Given the description of an element on the screen output the (x, y) to click on. 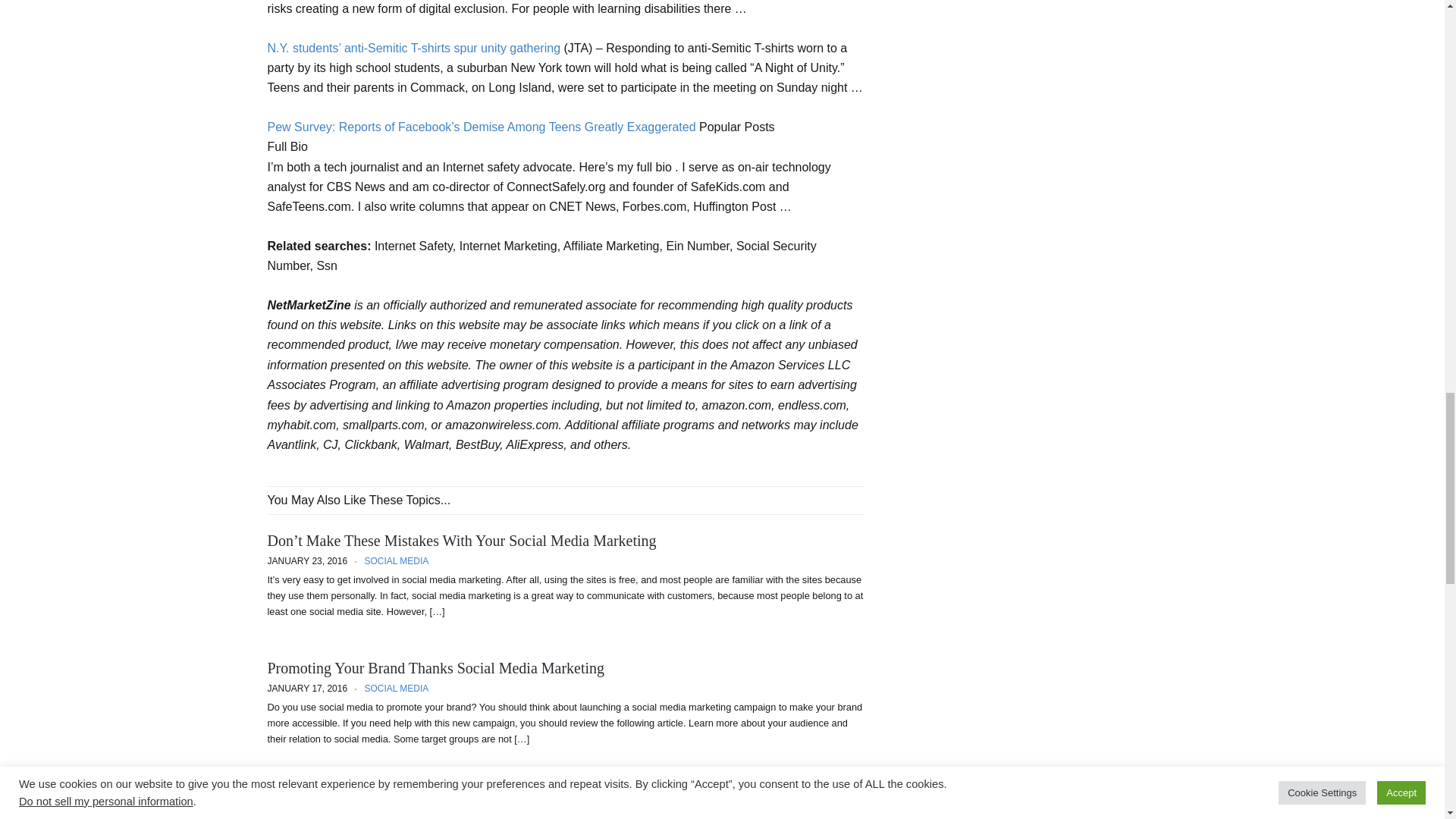
SOCIAL MEDIA (391, 814)
Promoting Your Brand Thanks Social Media Marketing (435, 668)
SOCIAL MEDIA (396, 561)
The Importance Of Social Media Marketing (400, 795)
SOCIAL MEDIA (396, 688)
